Given the description of an element on the screen output the (x, y) to click on. 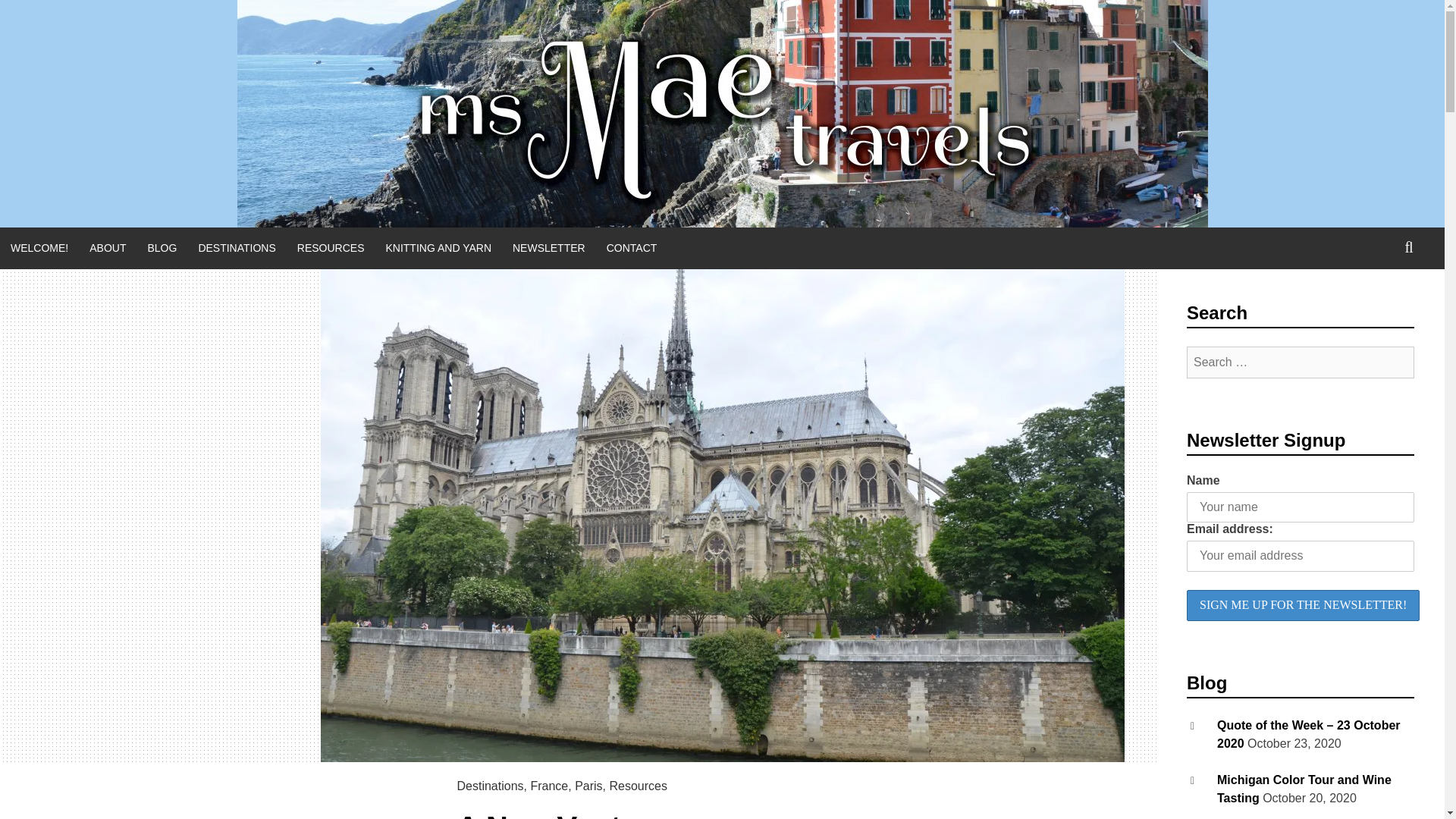
KNITTING AND YARN (438, 248)
MS. MAE TRAVELS (227, 342)
NEWSLETTER (548, 248)
Sign me up for the Newsletter! (1302, 604)
ABOUT (107, 248)
SEARCH (1409, 247)
CONTACT (631, 248)
BLOG (161, 248)
RESOURCES (330, 248)
WELCOME! (39, 248)
DESTINATIONS (236, 248)
